Given the description of an element on the screen output the (x, y) to click on. 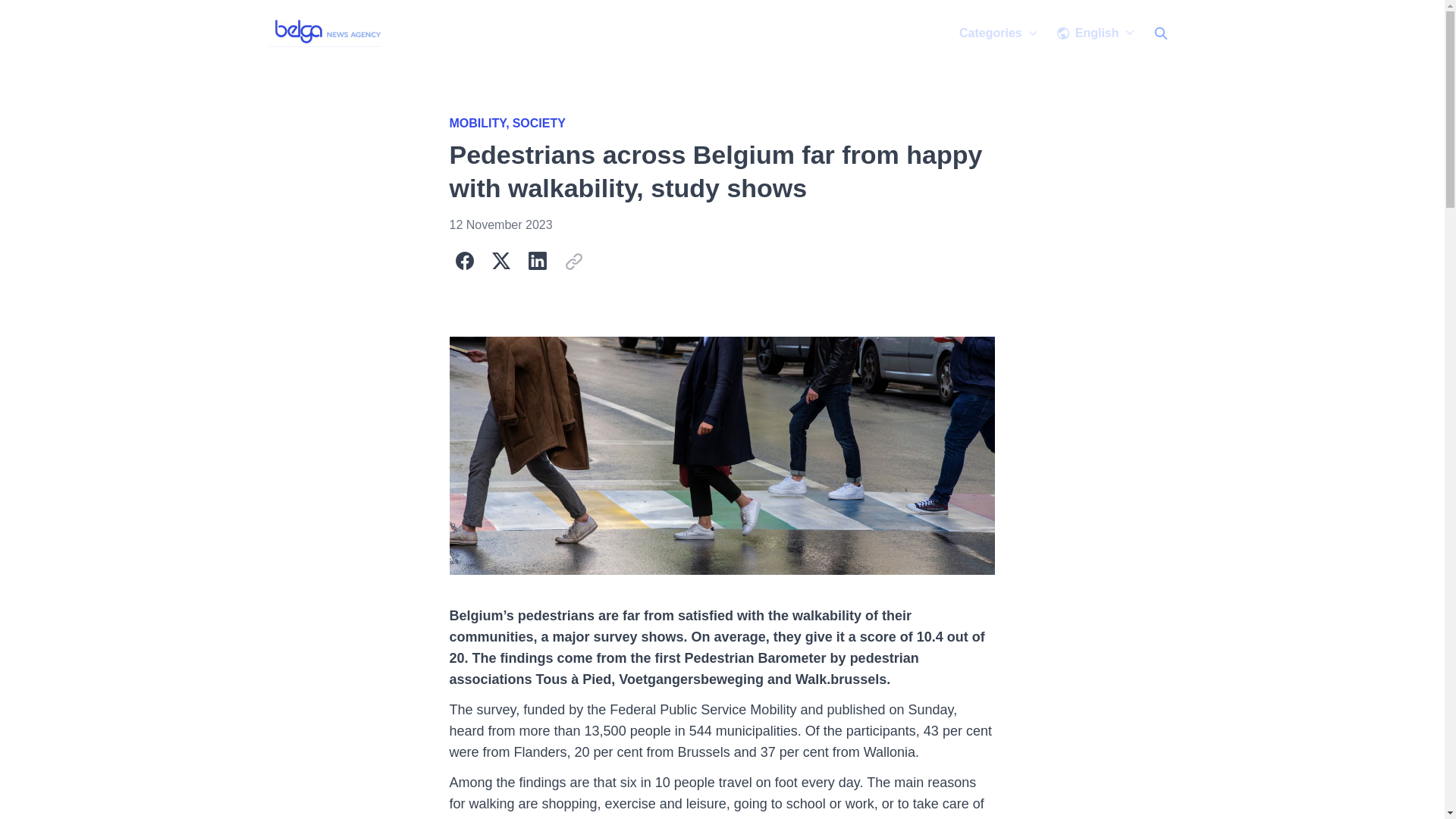
English (1095, 33)
Categories (997, 33)
BELGANEWSAGENCY.EU (326, 33)
Copy URL (572, 260)
SOCIETY (539, 123)
Search (1159, 32)
MOBILITY (480, 123)
